Given the description of an element on the screen output the (x, y) to click on. 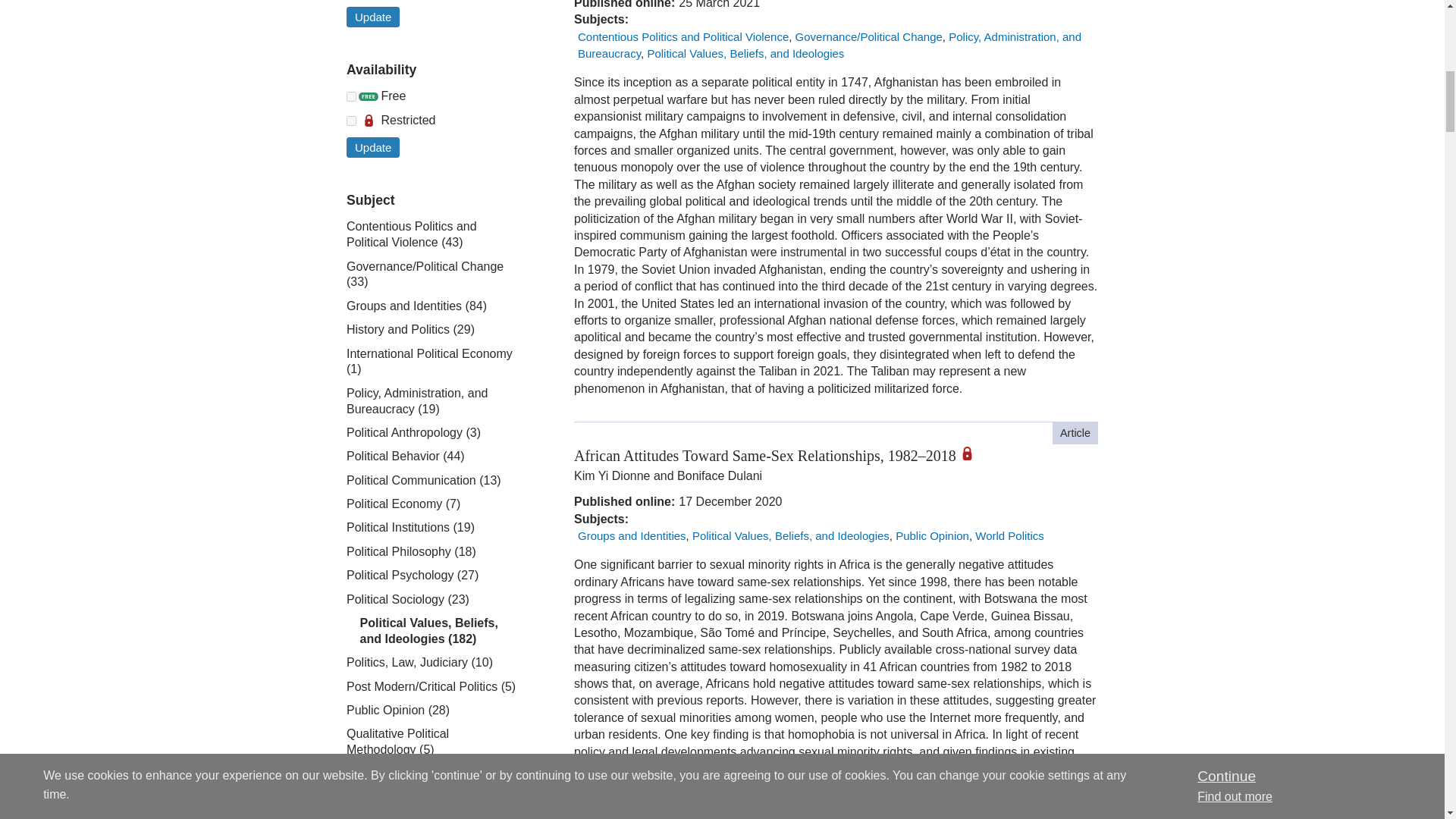
locked (351, 121)
free (351, 96)
